Given the description of an element on the screen output the (x, y) to click on. 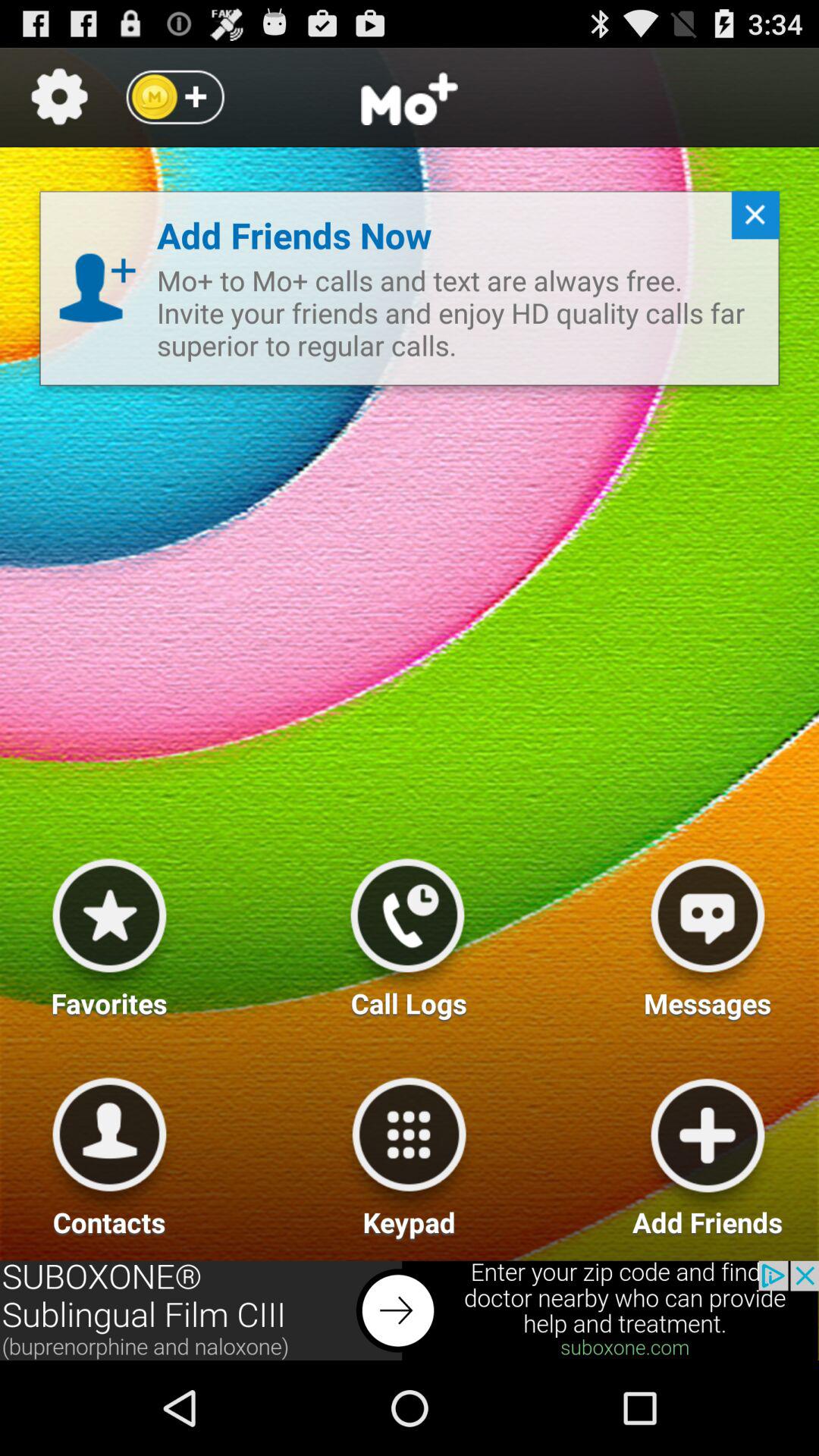
call logs option (407, 932)
